Given the description of an element on the screen output the (x, y) to click on. 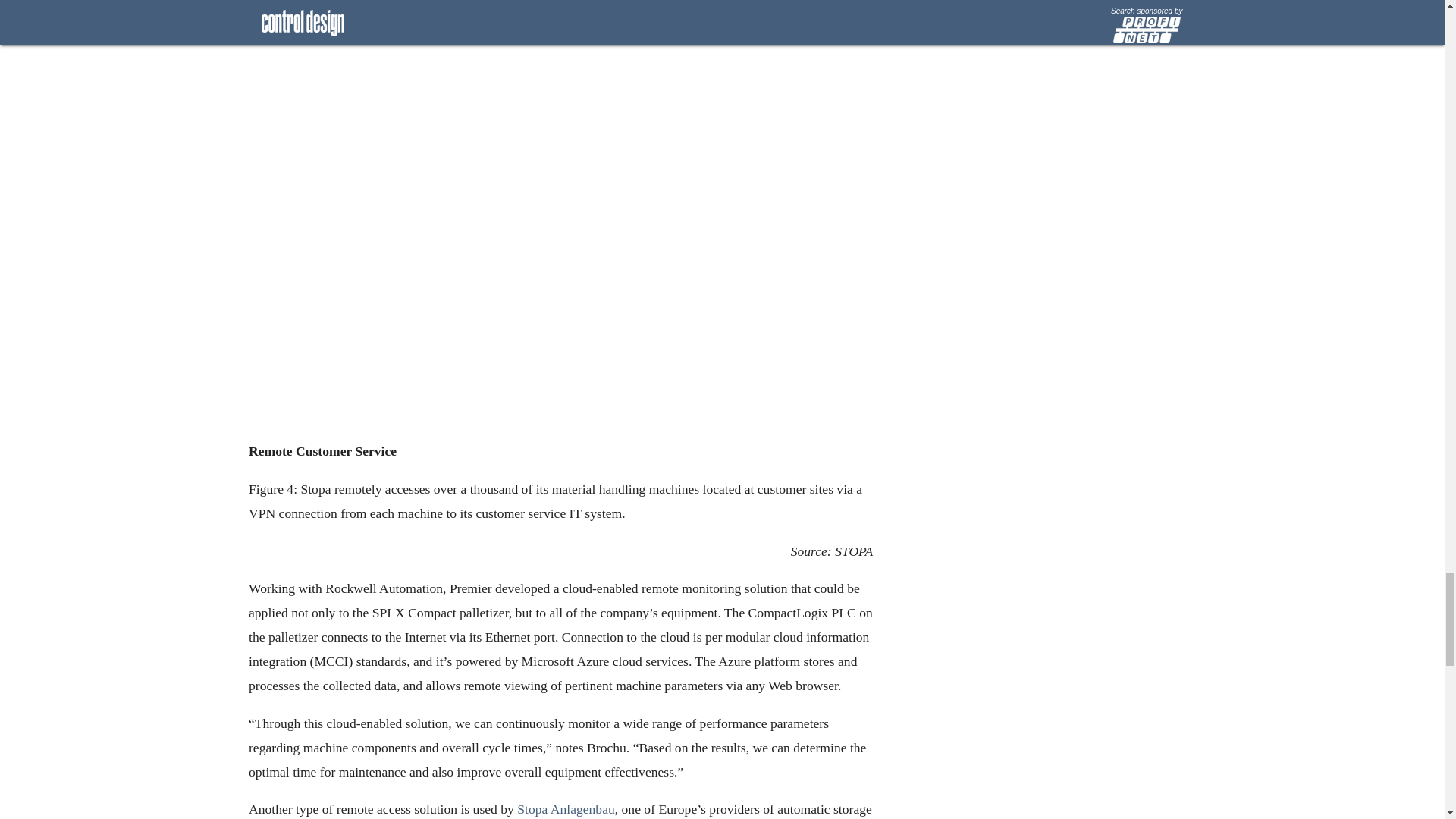
Stopa Anlagenbau (565, 809)
